Given the description of an element on the screen output the (x, y) to click on. 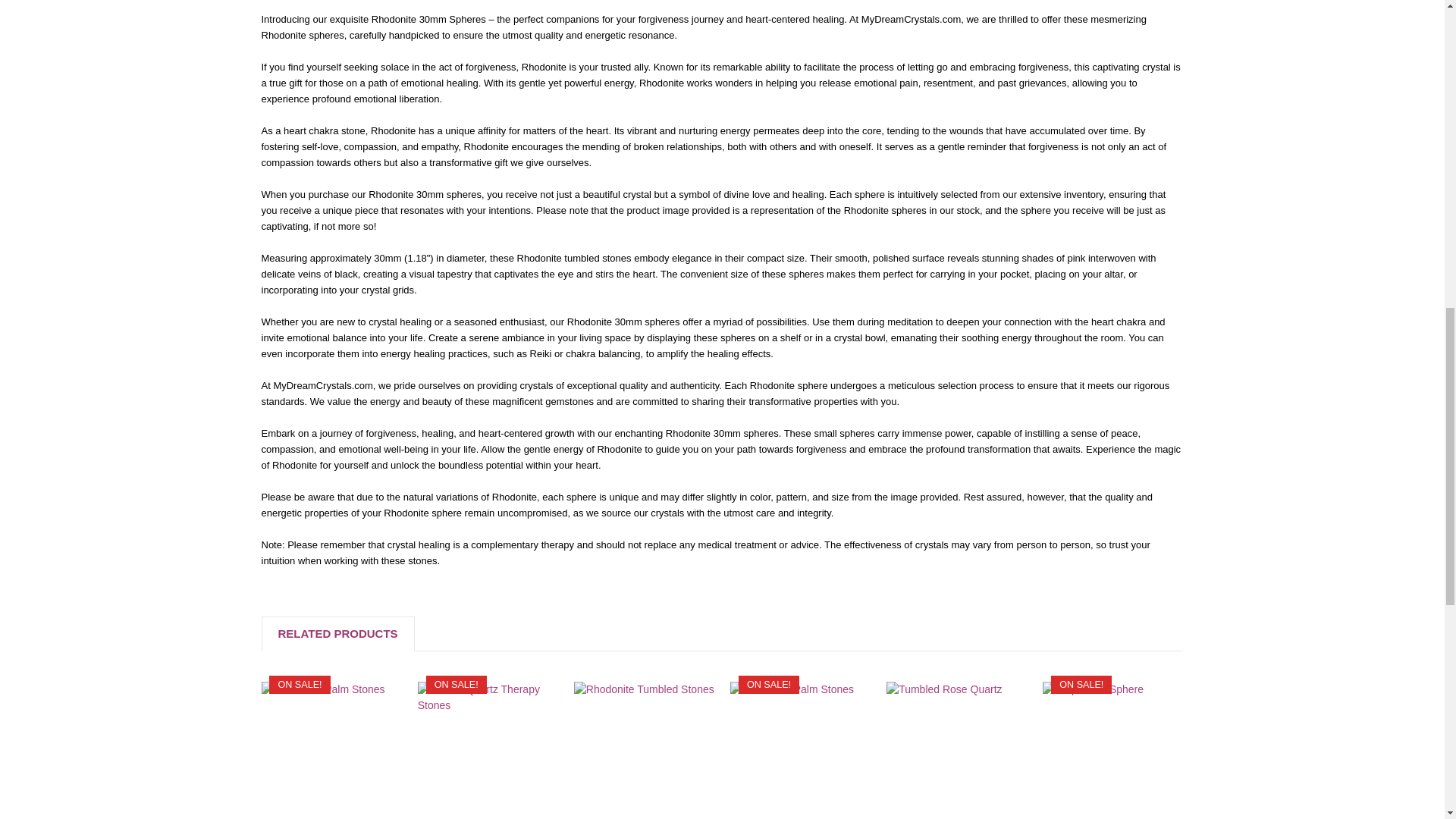
Serpentine Sphere (1112, 750)
Rhodonite  Palm Stones (330, 750)
Tumbled Rose Quartz (956, 750)
4 Rose Quartz Therapy Stones (487, 750)
Rhodonite  Palm Stones (800, 750)
Rhodonite  Tumbled Stones (643, 750)
